Given the description of an element on the screen output the (x, y) to click on. 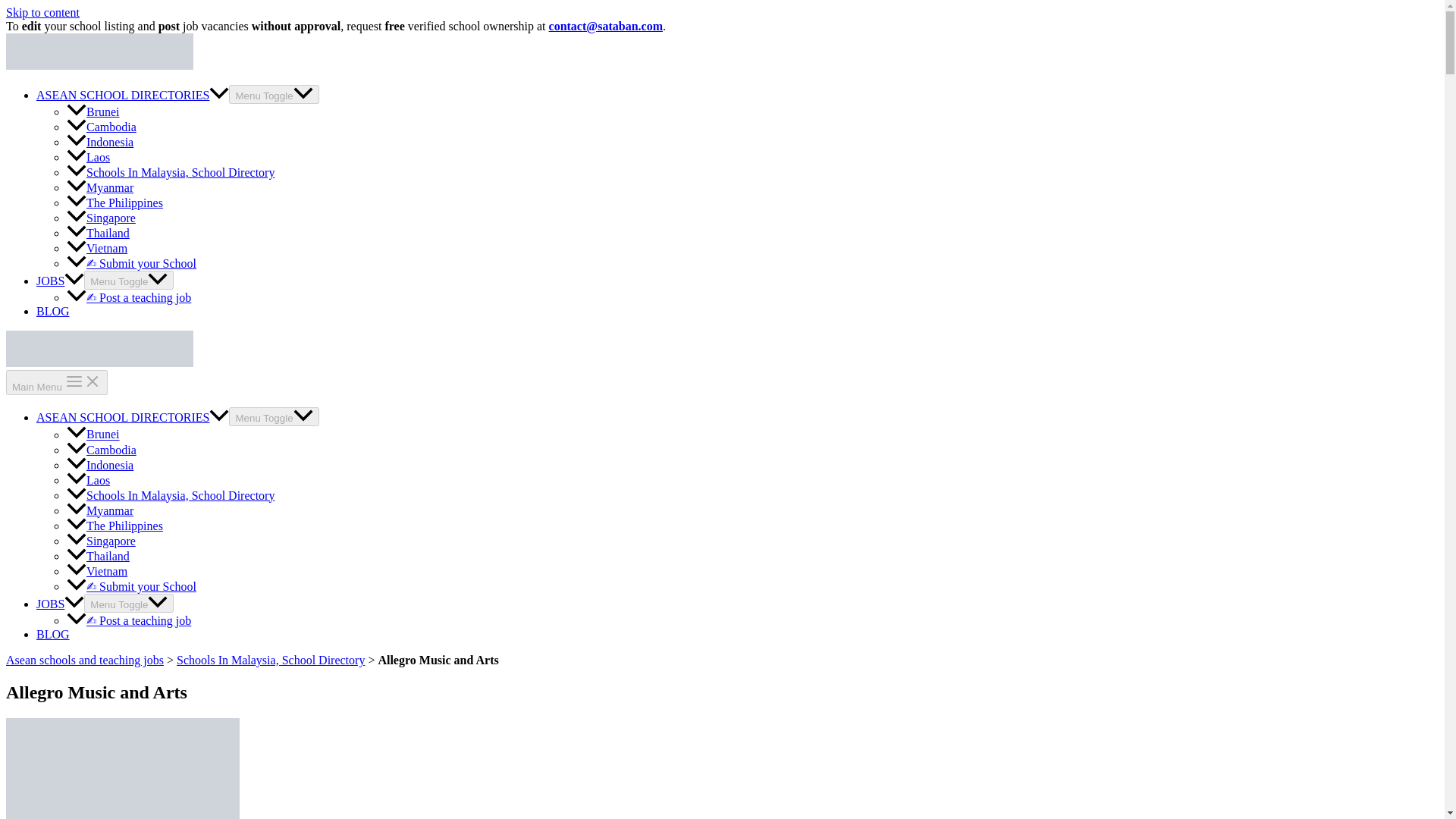
Menu Toggle (273, 416)
Cambodia (101, 449)
Menu Toggle (128, 602)
Vietnam (97, 571)
JOBS (60, 280)
Thailand (97, 232)
Indonesia (99, 464)
Skip to content (42, 11)
Schools In Malaysia, School Directory (170, 495)
Vietnam (97, 247)
The Philippines (114, 525)
ASEAN SCHOOL DIRECTORIES (132, 417)
Skip to content (42, 11)
Laos (88, 156)
Cambodia (101, 126)
